Given the description of an element on the screen output the (x, y) to click on. 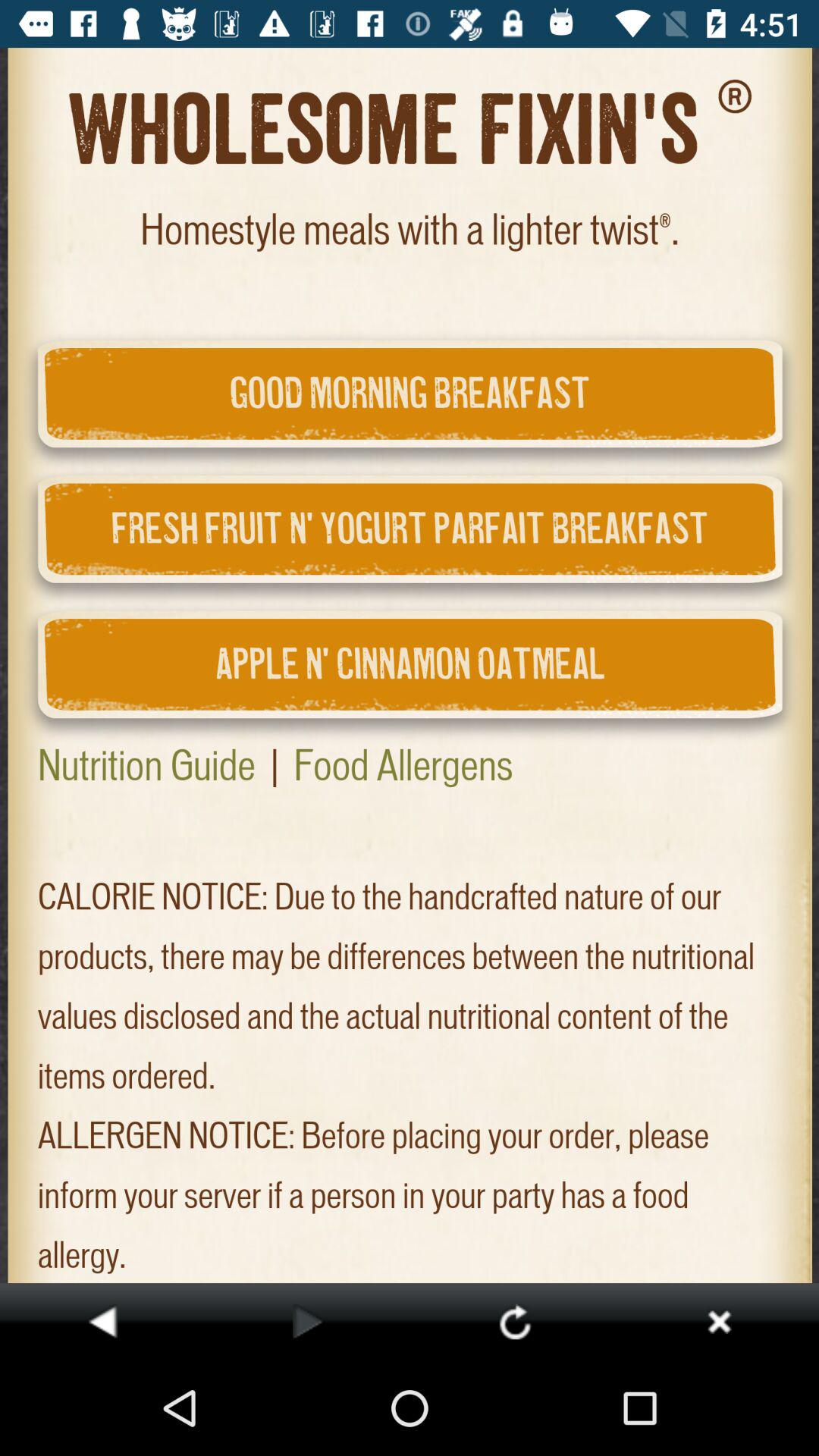
go next option (307, 1321)
